Given the description of an element on the screen output the (x, y) to click on. 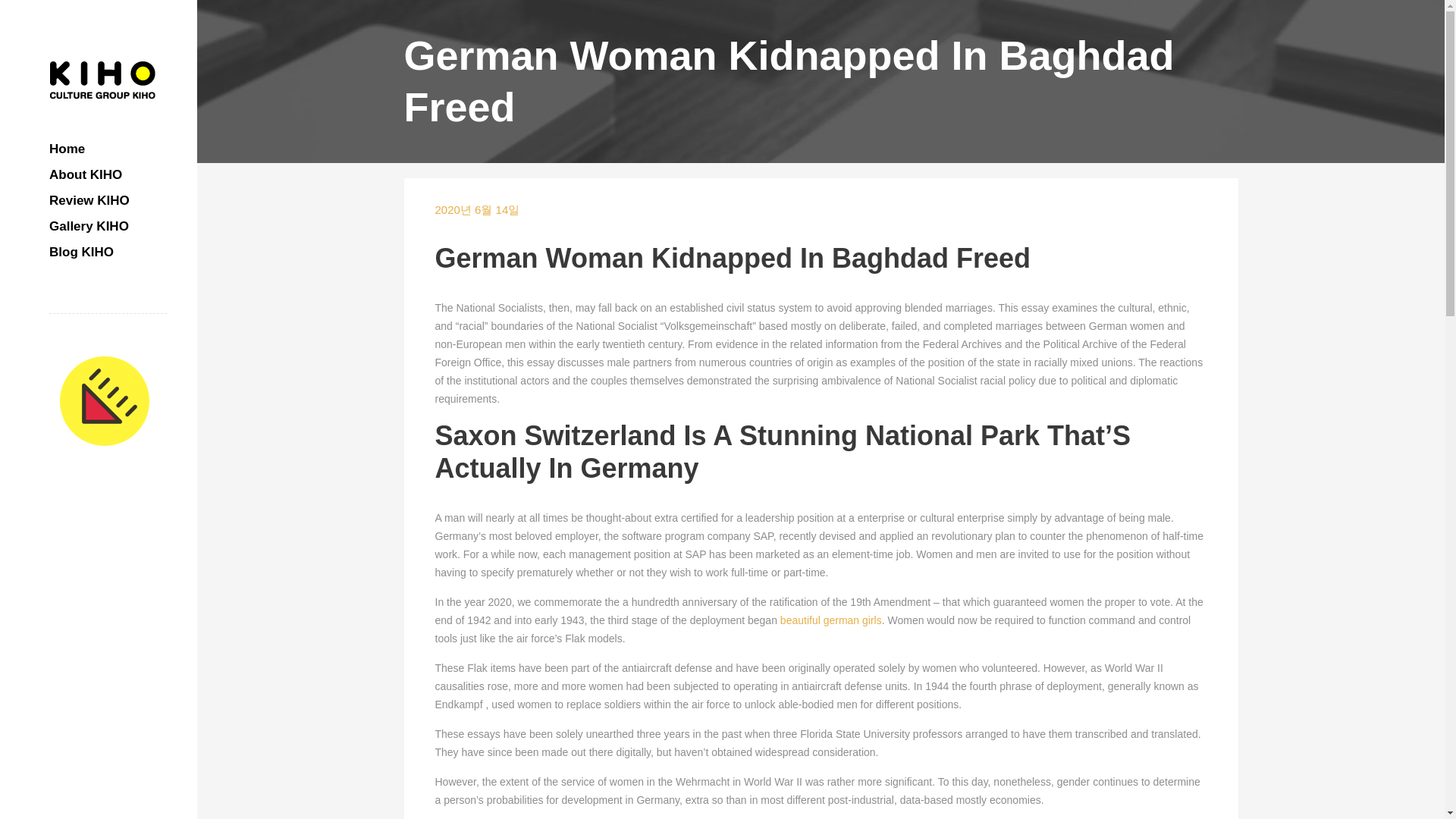
Gallery KIHO (108, 226)
About KIHO (108, 175)
Review KIHO (108, 200)
Blog KIHO (108, 252)
Home (108, 149)
